Given the description of an element on the screen output the (x, y) to click on. 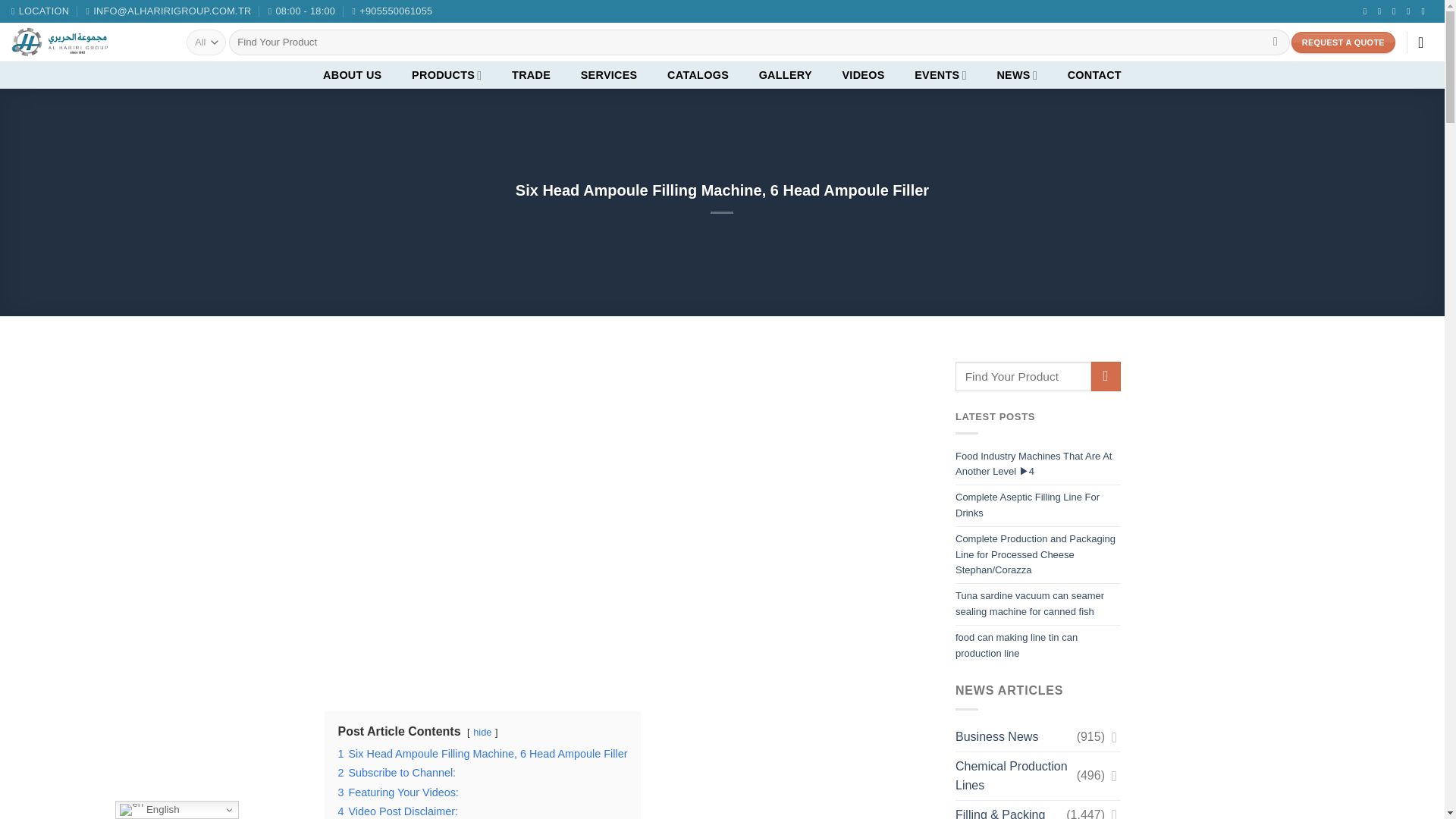
REQUEST A QUOTE (1342, 42)
ABOUT US (352, 74)
Search (1275, 42)
08:00 - 18:00 (300, 11)
LOCATION (39, 11)
Al Hariri Group  (87, 41)
PRODUCTS (446, 74)
